Given the description of an element on the screen output the (x, y) to click on. 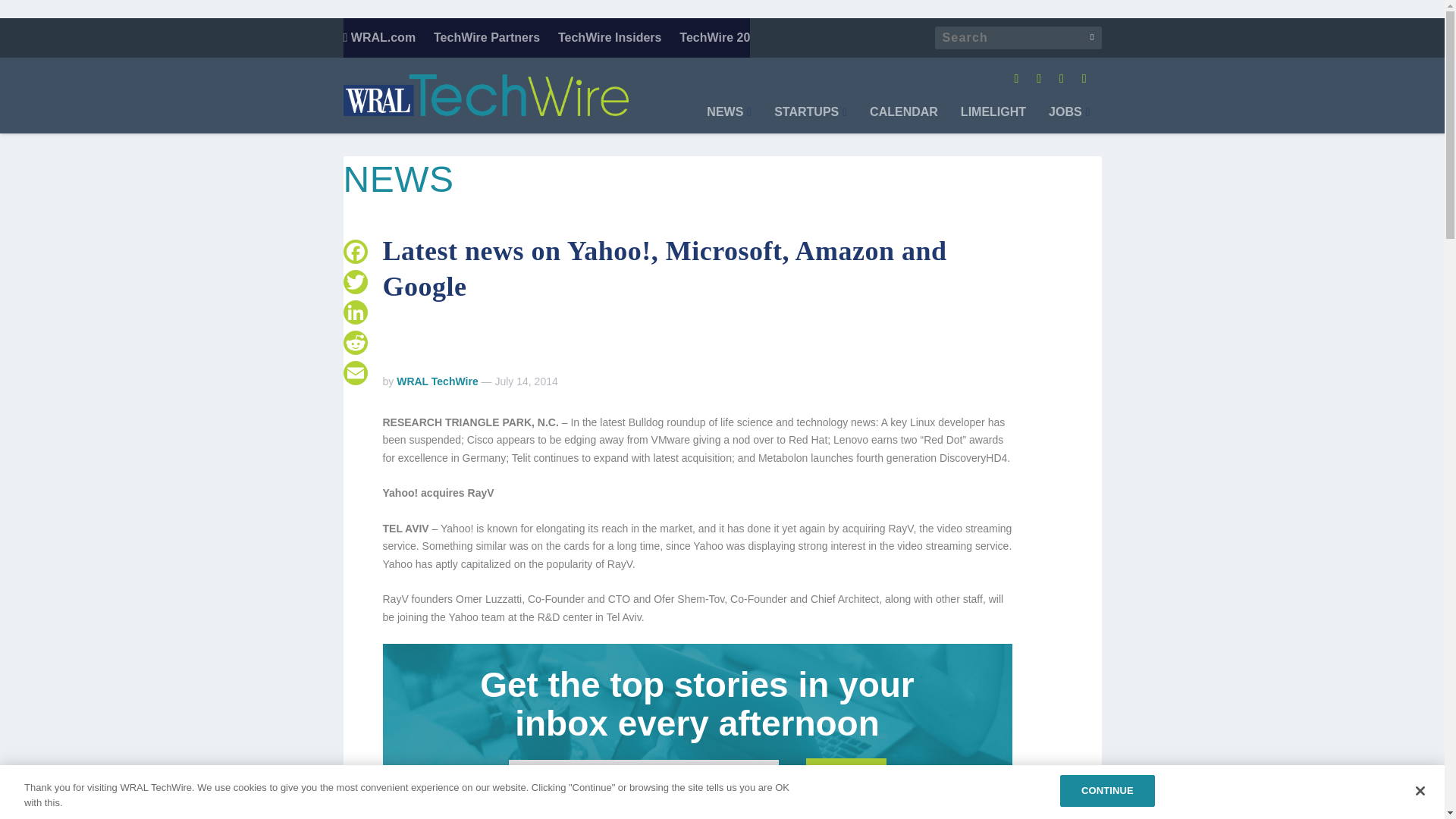
Email (354, 372)
CALENDAR (903, 119)
LinkedIn (354, 312)
LIMELIGHT (993, 119)
TechWire Partners (486, 37)
Facebook (354, 251)
Twitter (354, 281)
STARTUPS (810, 119)
TechWire Insiders (609, 37)
NEWS (728, 119)
SUBMIT (845, 771)
TechWire 20 (714, 37)
JOBS (1068, 119)
WRAL.com (378, 37)
Reddit (354, 342)
